Given the description of an element on the screen output the (x, y) to click on. 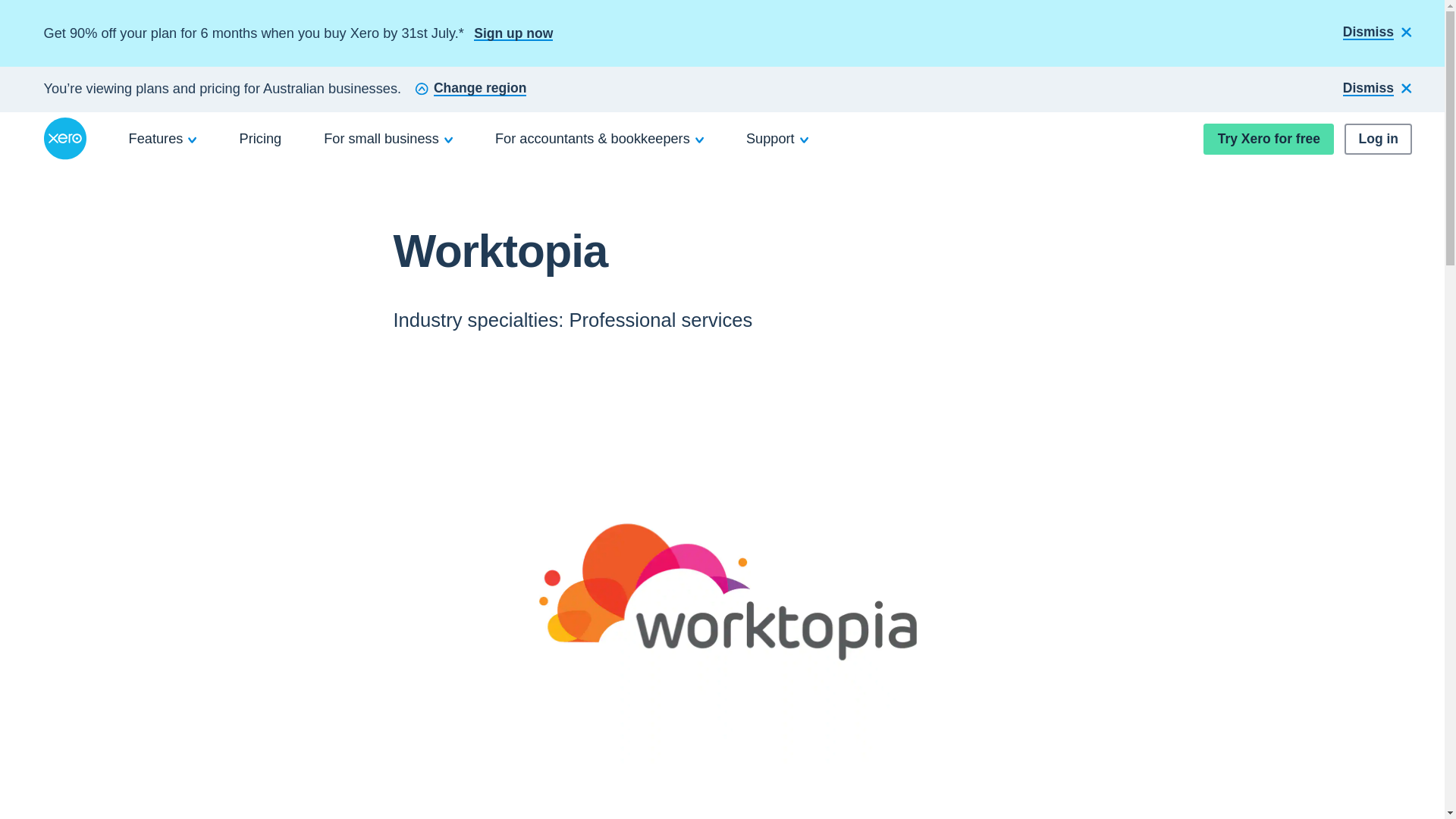
Dismiss (1377, 33)
Change region (469, 89)
Dismiss (1377, 89)
Sign up now (513, 32)
Pricing (260, 138)
Try Xero for free (1268, 138)
Support (777, 138)
Features (162, 138)
Log in (1377, 138)
For small business (388, 138)
